Given the description of an element on the screen output the (x, y) to click on. 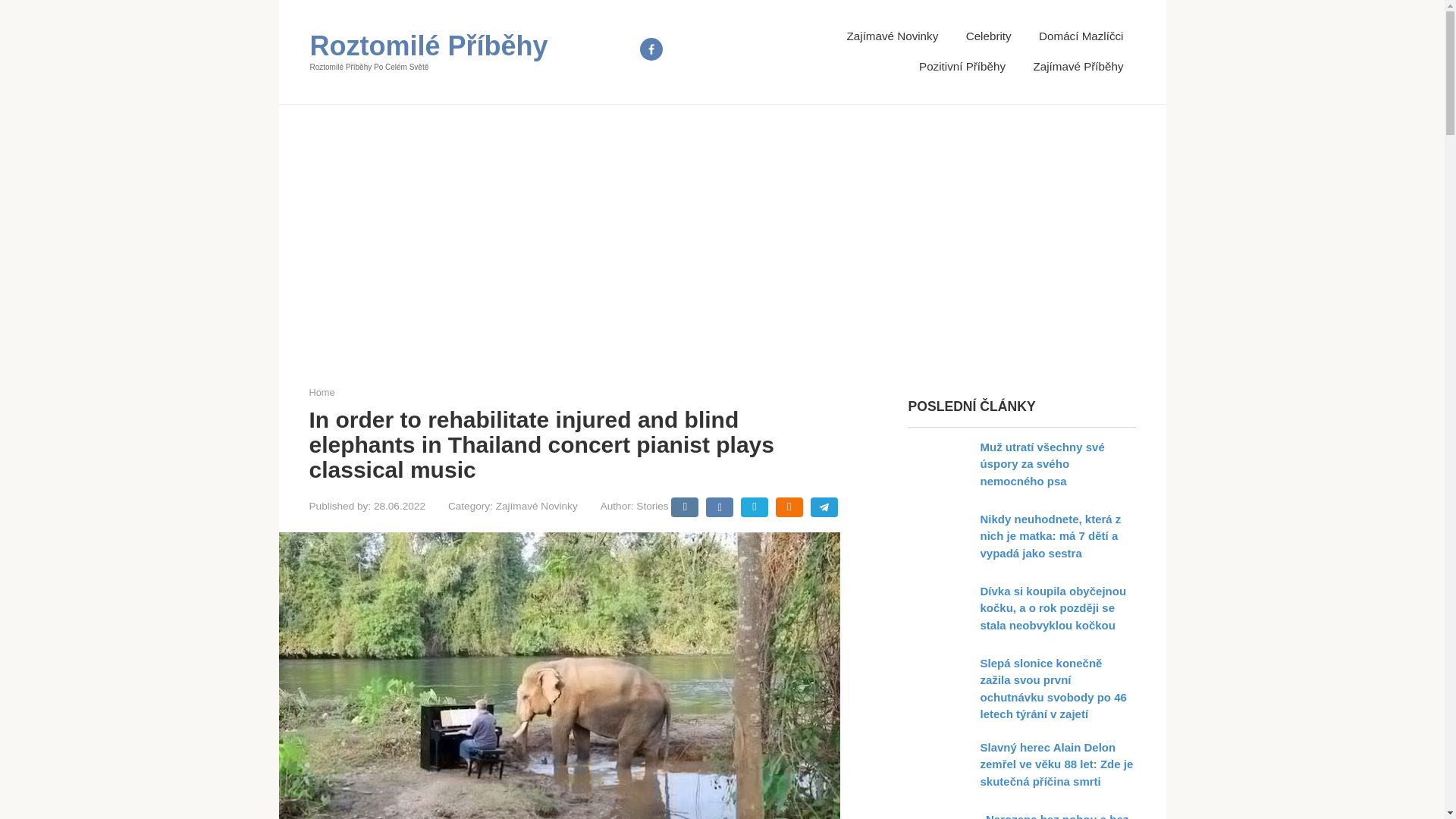
Home (321, 392)
Celebrity (988, 36)
